Given the description of an element on the screen output the (x, y) to click on. 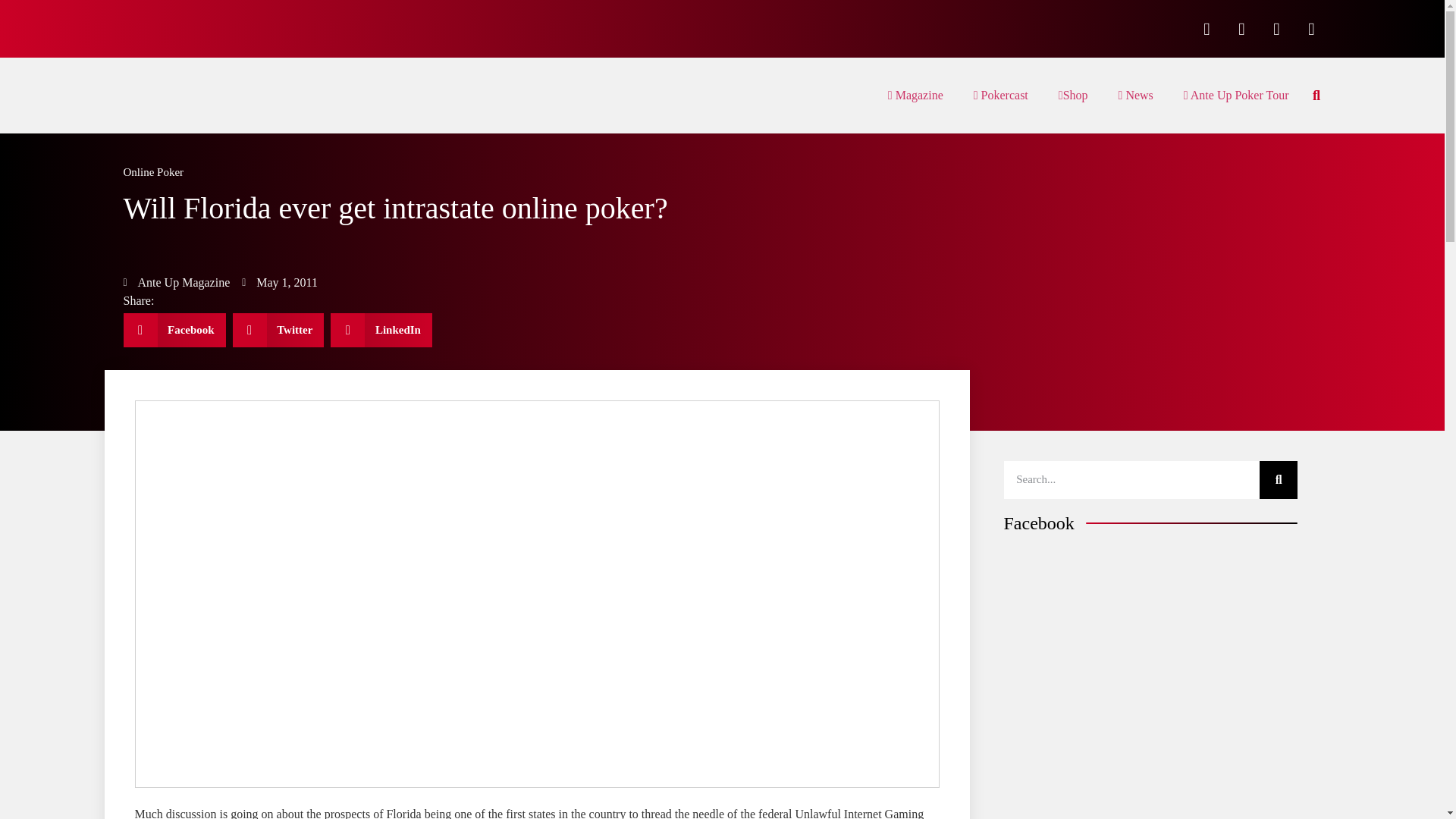
 Pokercast (1000, 95)
Shop (1073, 95)
Ante Up Magazine (176, 281)
 Ante Up Poker Tour (1236, 95)
 News (1136, 95)
Online Poker (152, 172)
 Magazine (915, 95)
May 1, 2011 (279, 281)
